Given the description of an element on the screen output the (x, y) to click on. 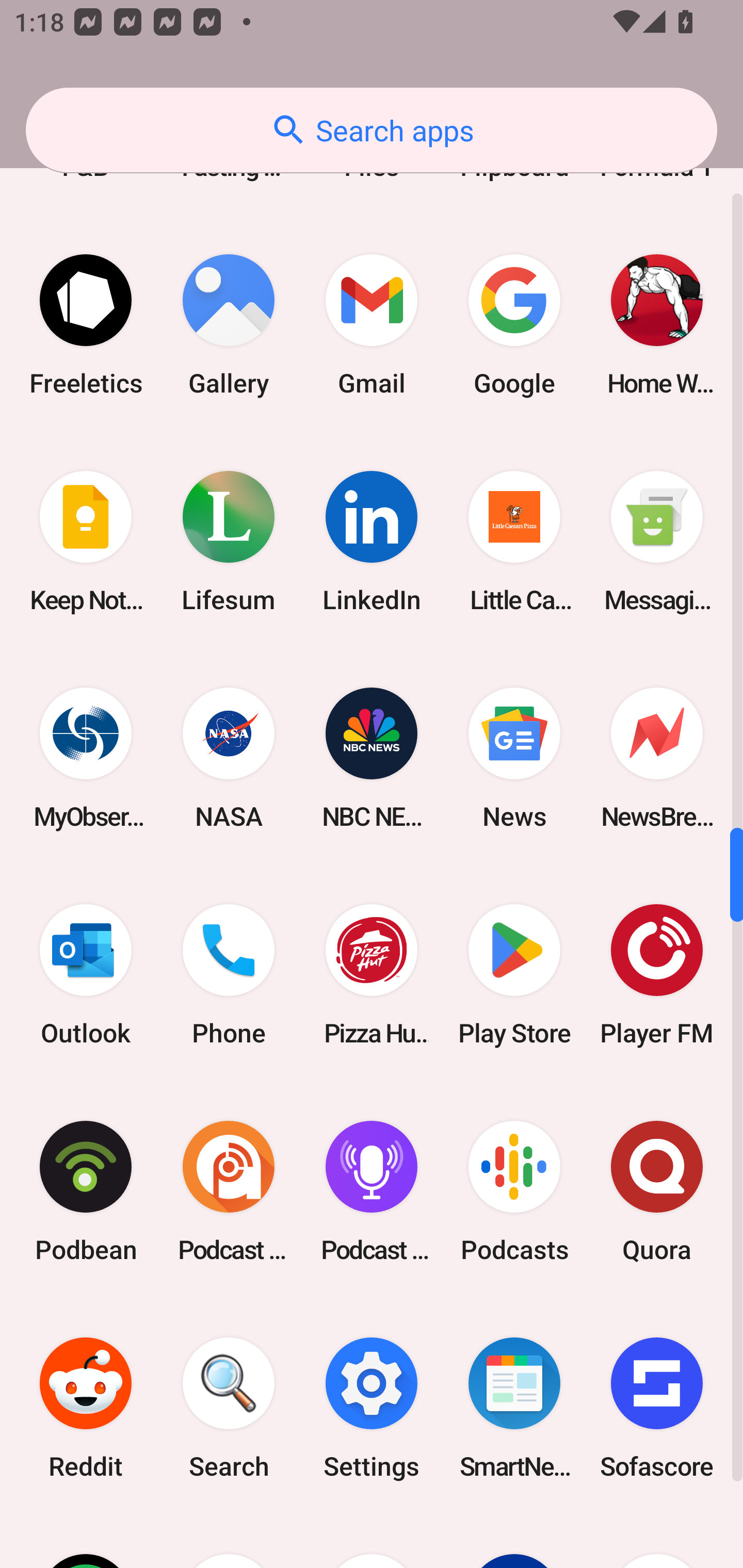
  Search apps (371, 130)
Freeletics (85, 324)
Gallery (228, 324)
Gmail (371, 324)
Google (514, 324)
Home Workout (656, 324)
Keep Notes (85, 540)
Lifesum (228, 540)
LinkedIn (371, 540)
Little Caesars Pizza (514, 540)
Messaging (656, 540)
MyObservatory (85, 758)
NASA (228, 758)
NBC NEWS (371, 758)
News (514, 758)
NewsBreak (656, 758)
Outlook (85, 975)
Phone (228, 975)
Pizza Hut HK & Macau (371, 975)
Play Store (514, 975)
Player FM (656, 975)
Podbean (85, 1191)
Podcast Addict (228, 1191)
Podcast Player (371, 1191)
Podcasts (514, 1191)
Quora (656, 1191)
Reddit (85, 1407)
Search (228, 1407)
Settings (371, 1407)
SmartNews (514, 1407)
Sofascore (656, 1407)
